Given the description of an element on the screen output the (x, y) to click on. 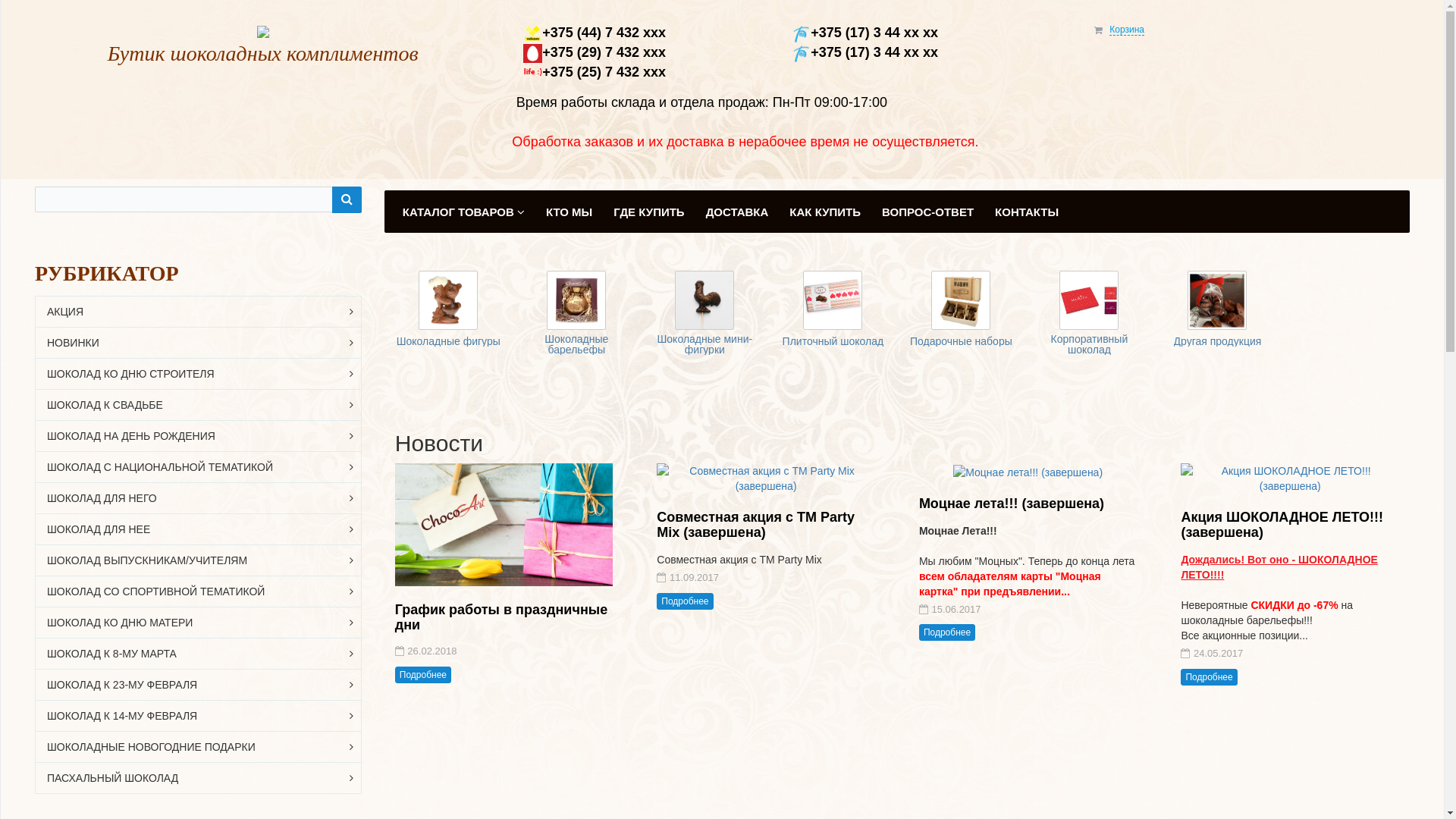
life.png Element type: hover (532, 71)
beltel.png Element type: hover (800, 52)
velcom.png Element type: hover (532, 33)
mts.png Element type: hover (532, 52)
beltel.png Element type: hover (800, 33)
